Given the description of an element on the screen output the (x, y) to click on. 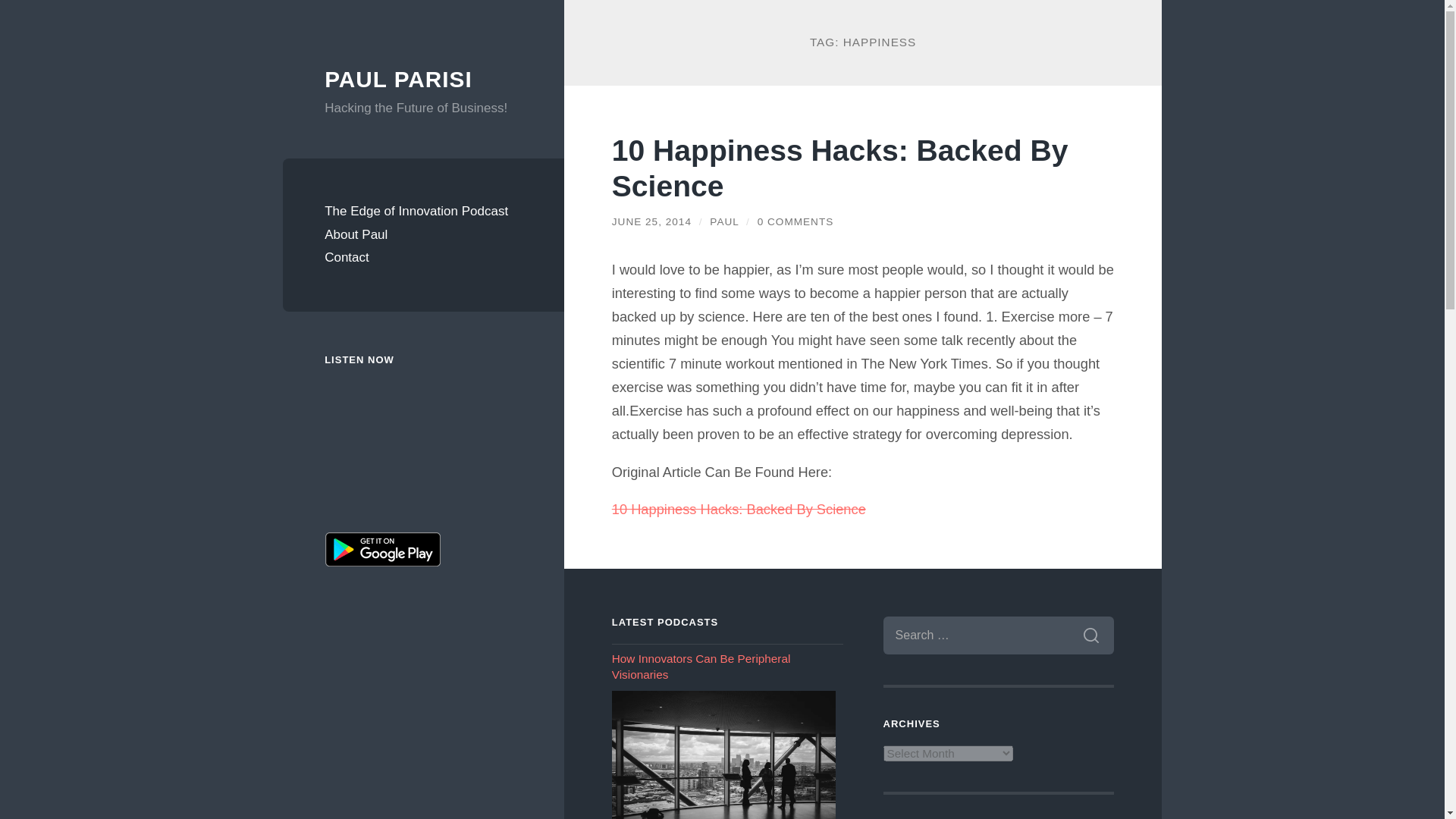
10 Happiness Hacks: Backed By Science (839, 168)
Search (1090, 635)
Contact (422, 257)
How Innovators Can Be Peripheral Visionaries (723, 755)
JUNE 25, 2014 (651, 221)
The Edge of Innovation Podcast (422, 210)
0 COMMENTS (795, 221)
About Paul (422, 234)
10 Happiness Hacks: Backed By Science (738, 508)
PAUL (724, 221)
10 Happiness Hacks: Backed By Science (738, 508)
Search (1090, 635)
How Innovators Can Be Peripheral Visionaries (727, 666)
Posts by Paul (724, 221)
Search (1090, 635)
